Given the description of an element on the screen output the (x, y) to click on. 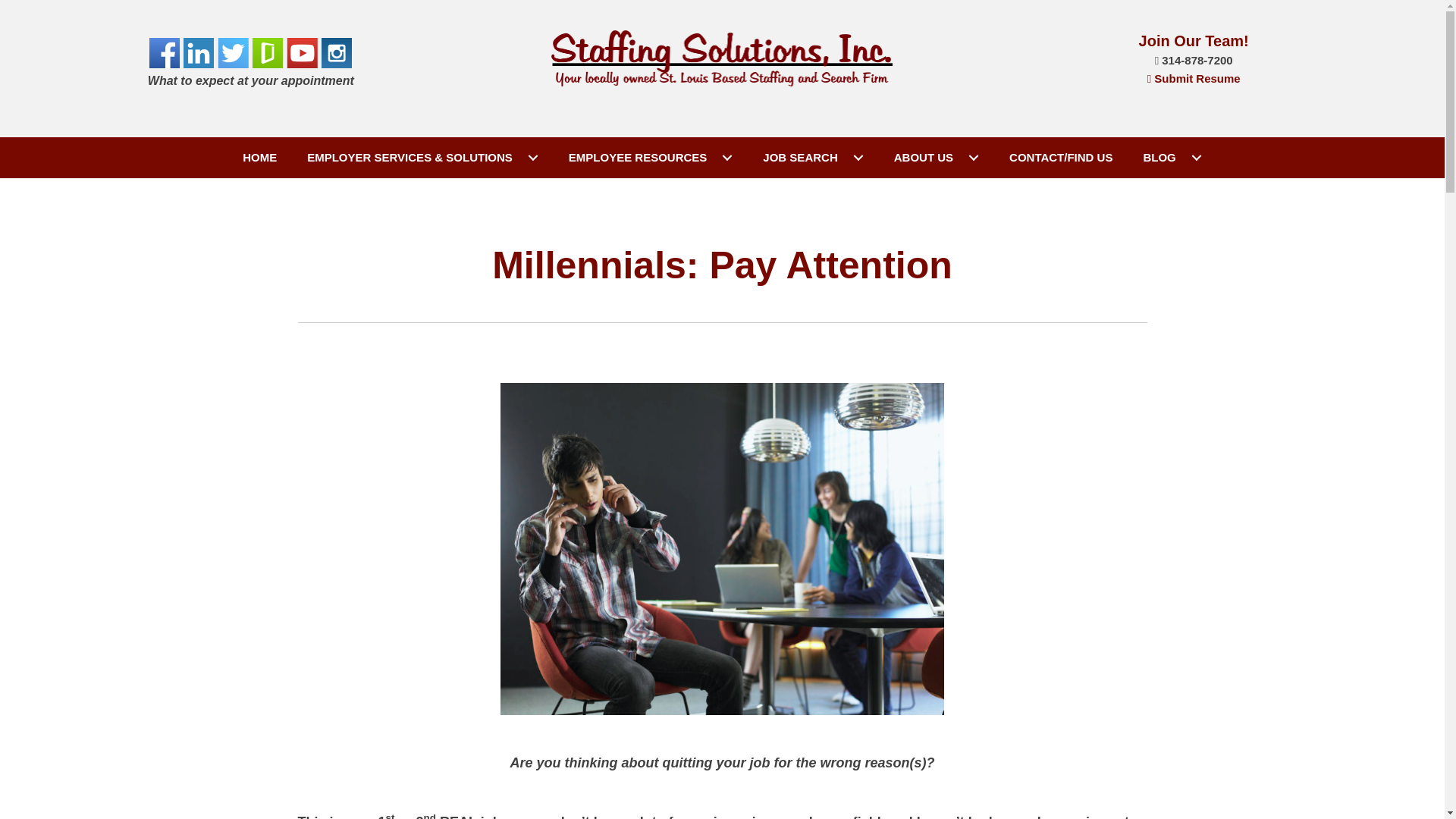
EMPLOYEE RESOURCES (650, 157)
What to expect at your appointment (250, 80)
Submit Resume (1197, 78)
BLOG (1170, 157)
ABOUT US (936, 157)
HOME (259, 157)
JOB SEARCH (812, 157)
Staffing-Solutions-New-Tag (721, 58)
